Given the description of an element on the screen output the (x, y) to click on. 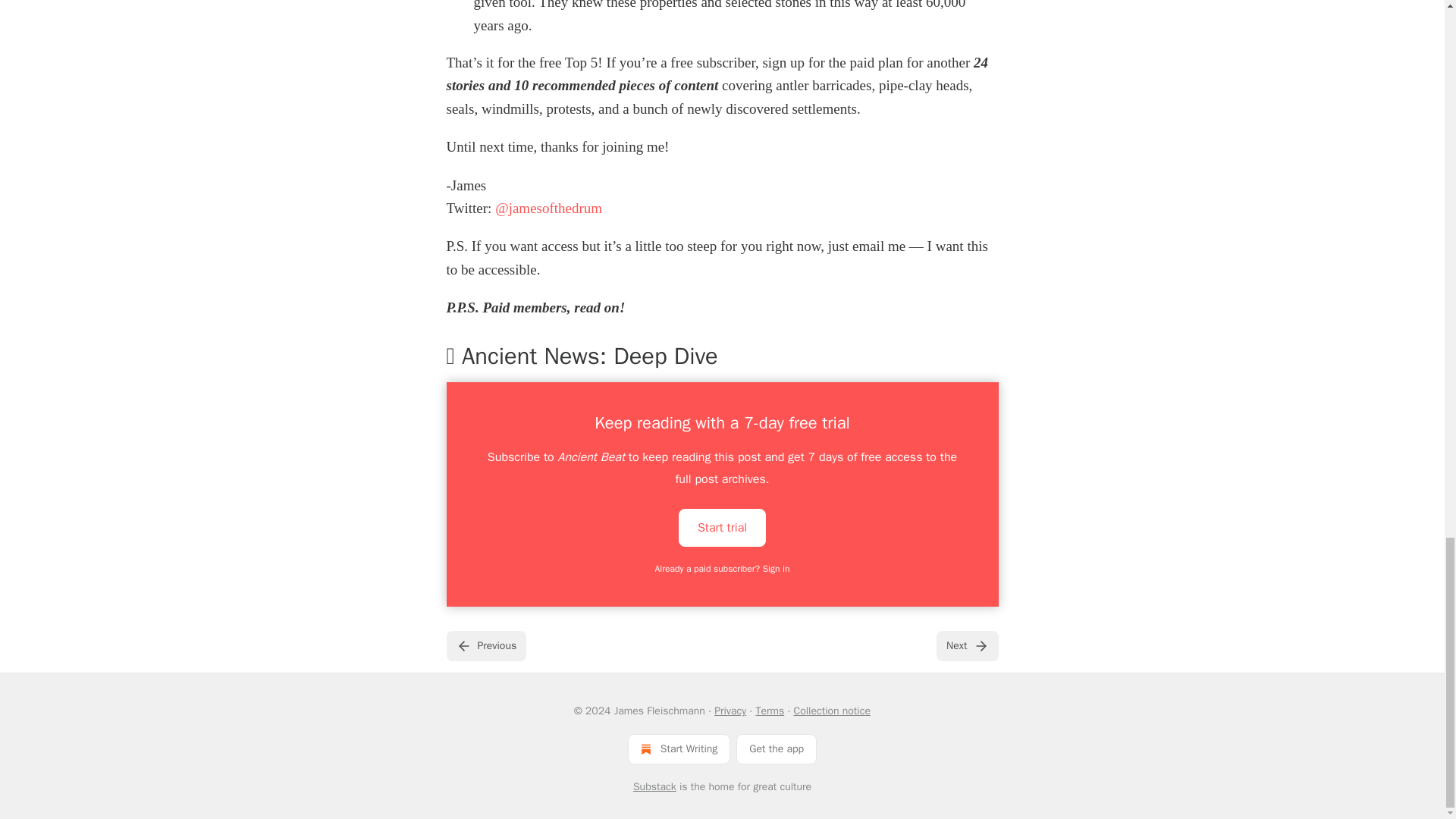
Start trial (721, 527)
Previous (485, 645)
Start trial (721, 526)
Already a paid subscriber? Sign in (722, 568)
Next (966, 645)
